Given the description of an element on the screen output the (x, y) to click on. 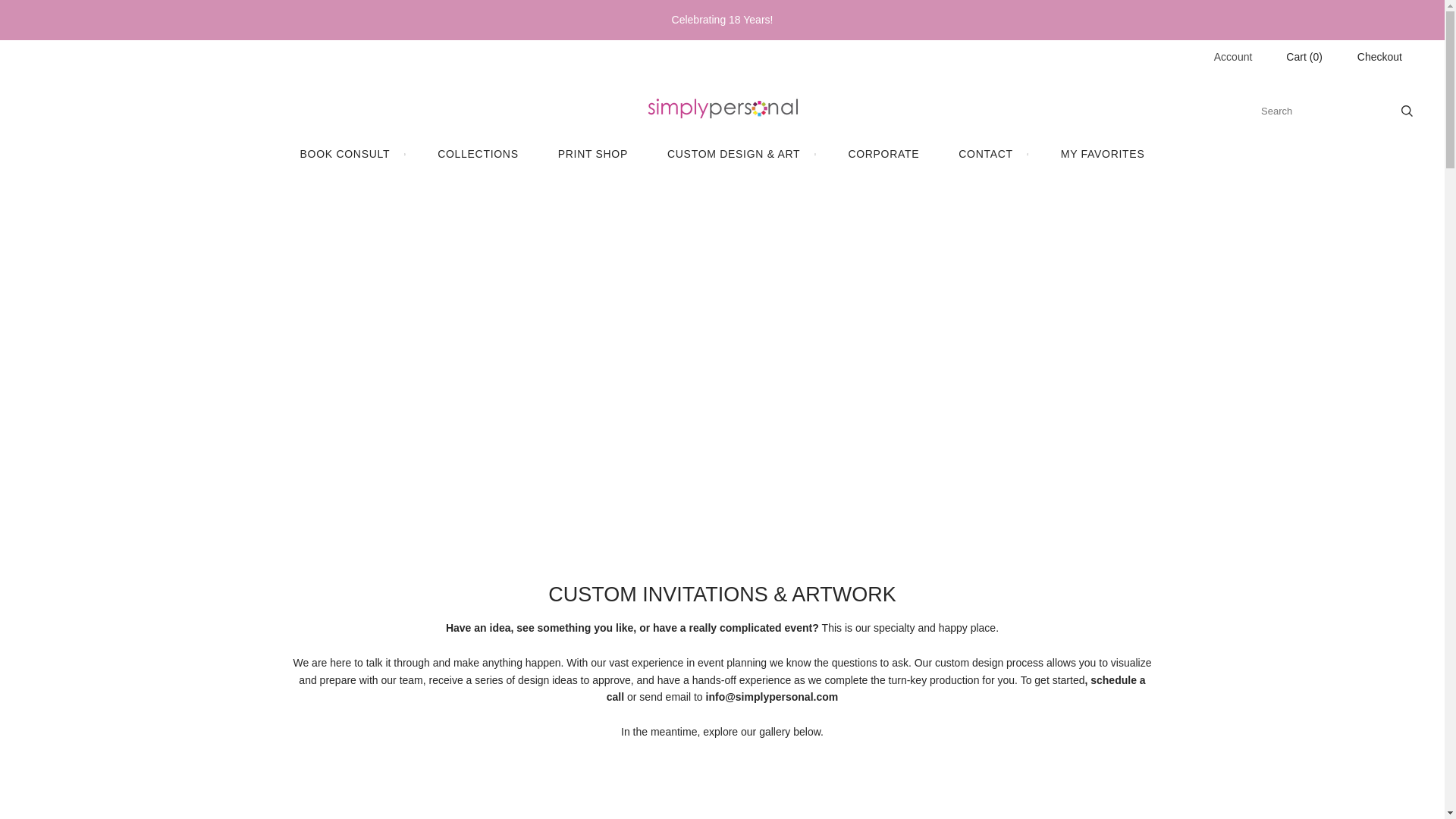
Checkout (1379, 57)
Celebrating 18 Years! (722, 20)
CORPORATE (883, 153)
schedule a call (876, 687)
Account (1233, 56)
MY FAVORITES (1102, 153)
COLLECTIONS (477, 153)
PRINT SHOP (592, 153)
